Given the description of an element on the screen output the (x, y) to click on. 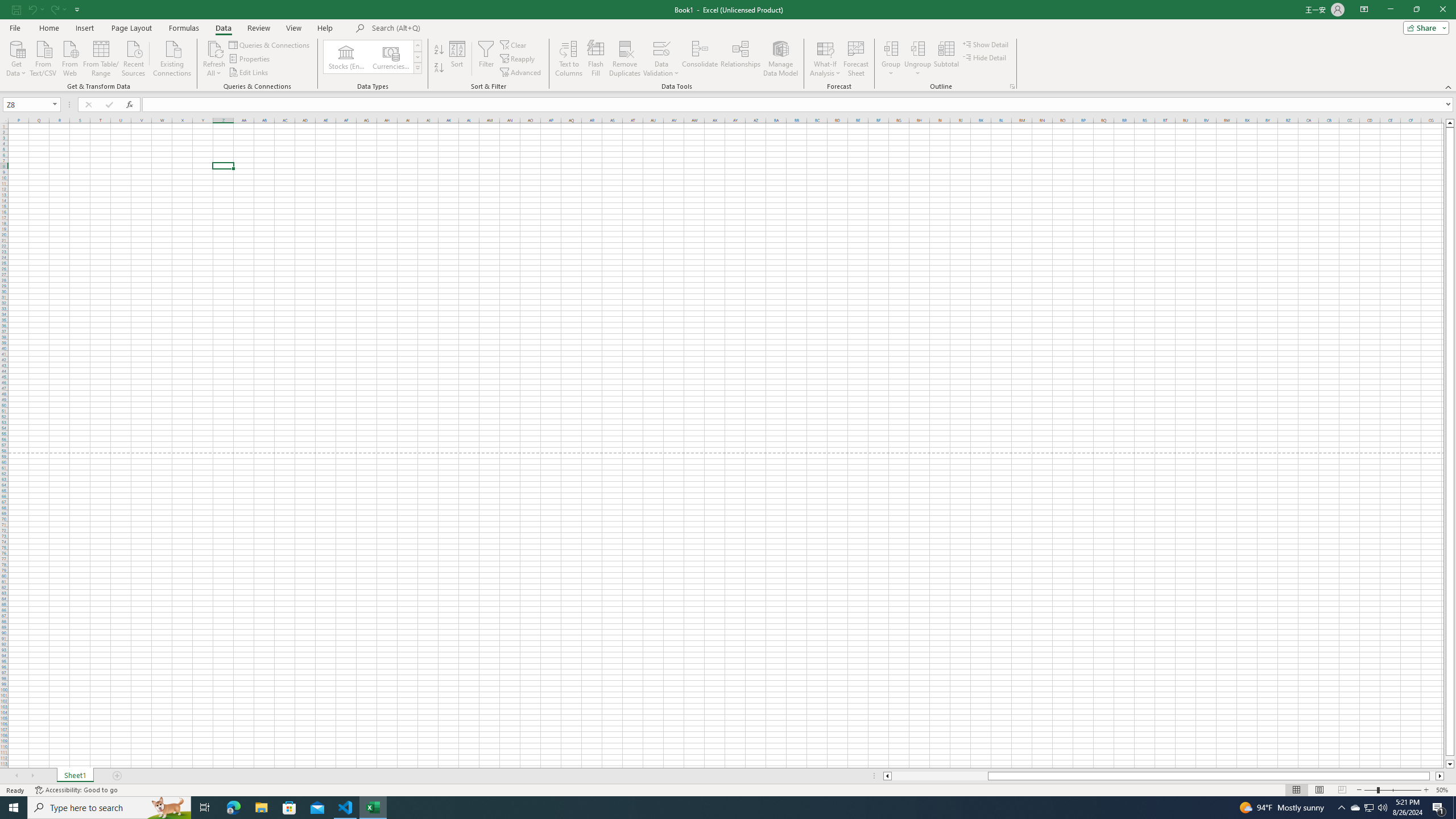
Page left (939, 775)
Flash Fill (595, 58)
Sort Z to A (438, 67)
